Given the description of an element on the screen output the (x, y) to click on. 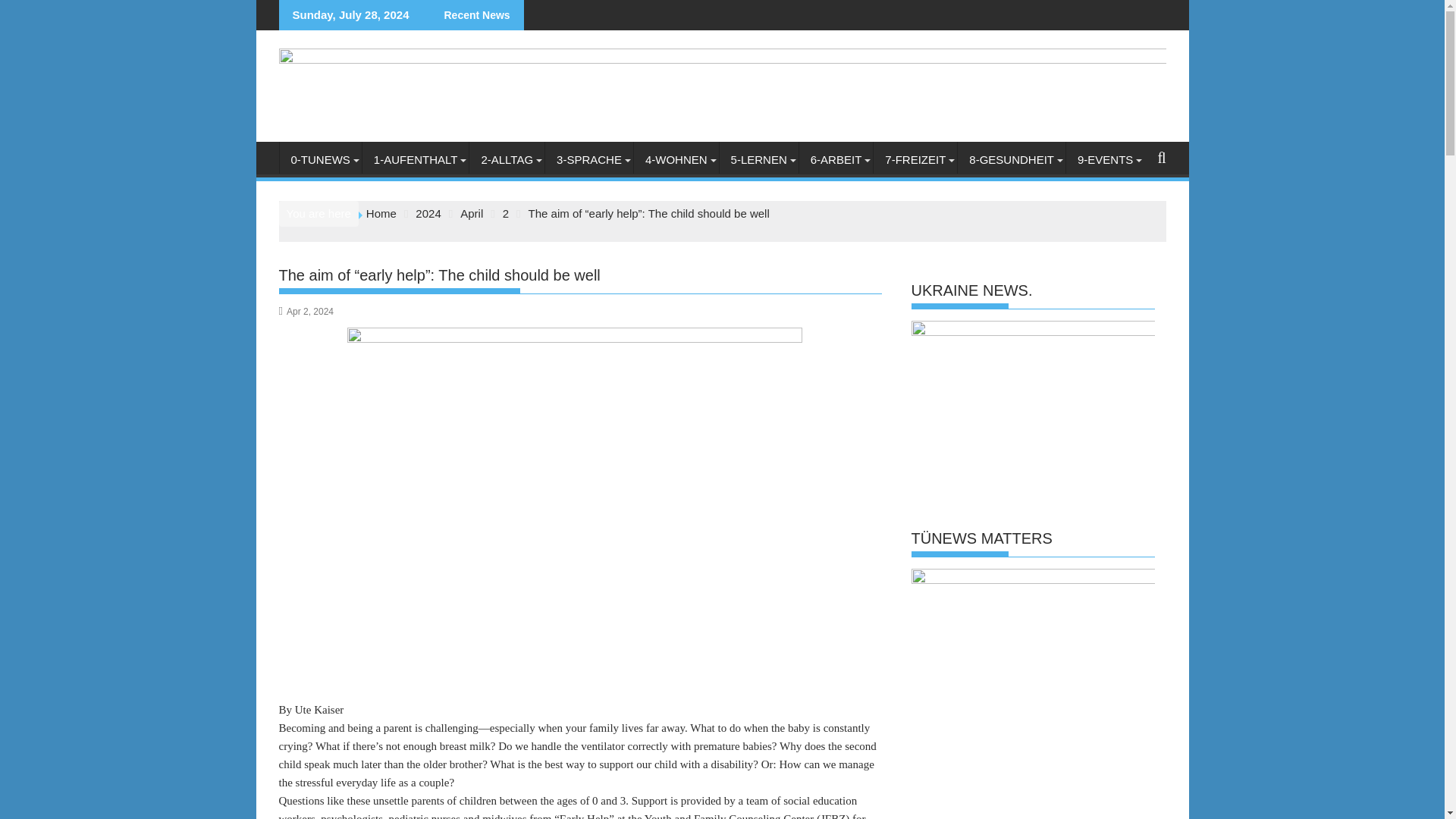
5-LERNEN (758, 159)
7-FREIZEIT (914, 159)
0-TUNEWS (320, 159)
3-SPRACHE (588, 159)
6-ARBEIT (836, 159)
4-WOHNEN (676, 159)
tuenews (722, 92)
2-ALLTAG (506, 159)
1-AUFENTHALT (415, 159)
